Given the description of an element on the screen output the (x, y) to click on. 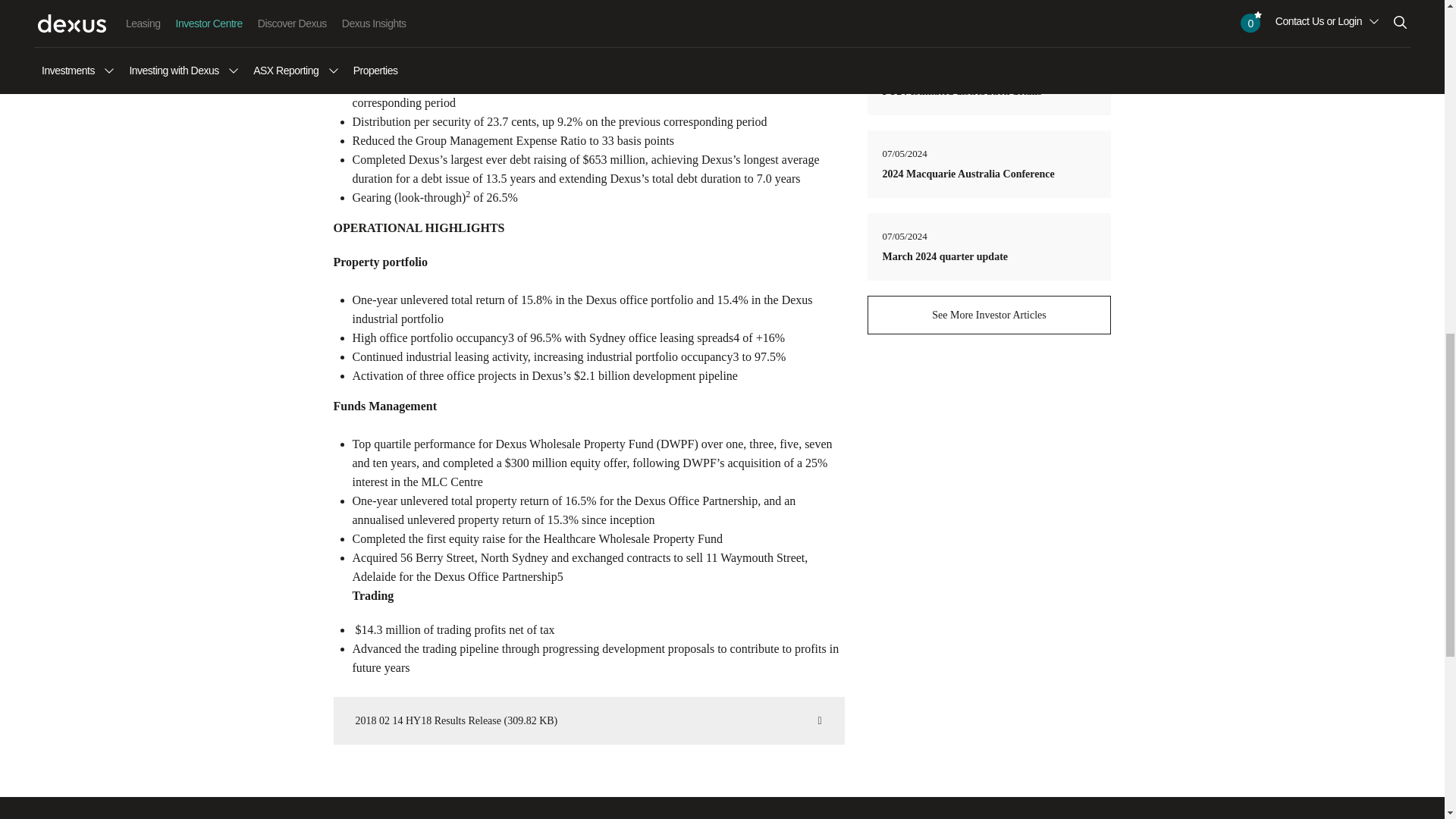
2018 02 14 HY18 Results Release (589, 720)
2024 Macquarie Australia Conference (968, 173)
Portfolio valuation update (941, 8)
March 2024 quarter update (945, 256)
FY24 estimated distribution details (962, 91)
